Given the description of an element on the screen output the (x, y) to click on. 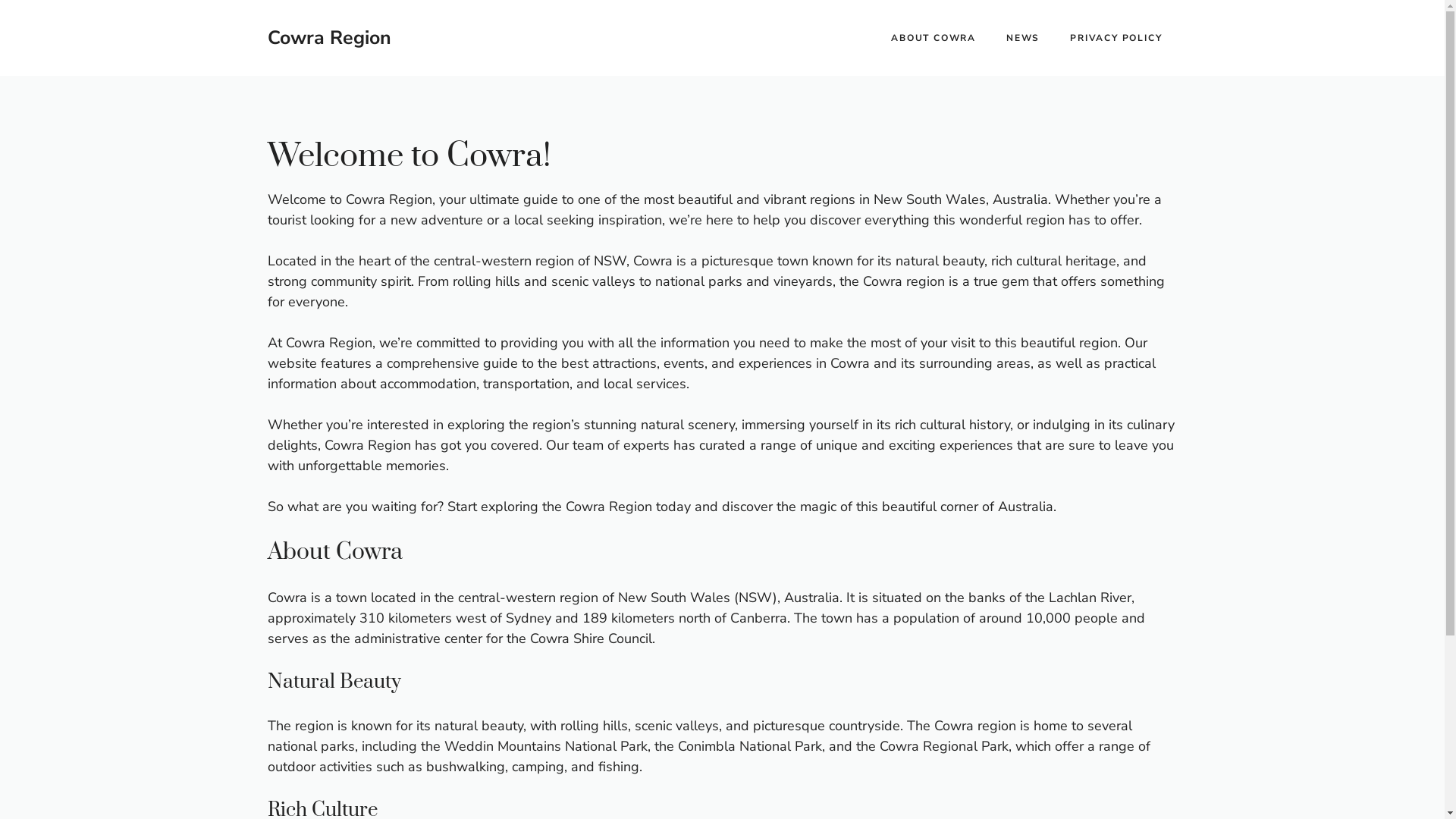
NEWS Element type: text (1022, 37)
PRIVACY POLICY Element type: text (1115, 37)
Cowra Region Element type: text (328, 37)
ABOUT COWRA Element type: text (933, 37)
